Given the description of an element on the screen output the (x, y) to click on. 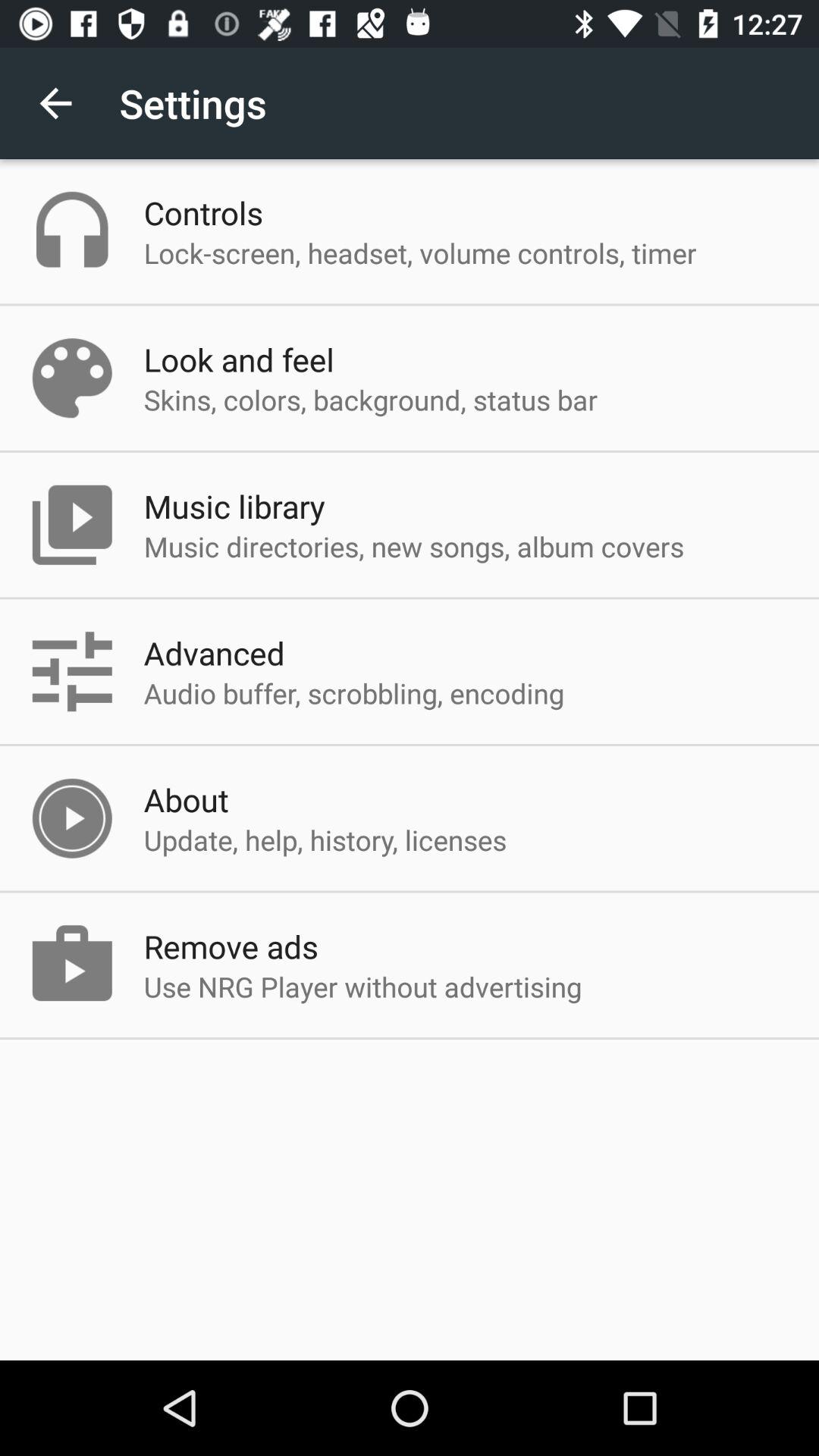
scroll until the advanced icon (213, 652)
